Given the description of an element on the screen output the (x, y) to click on. 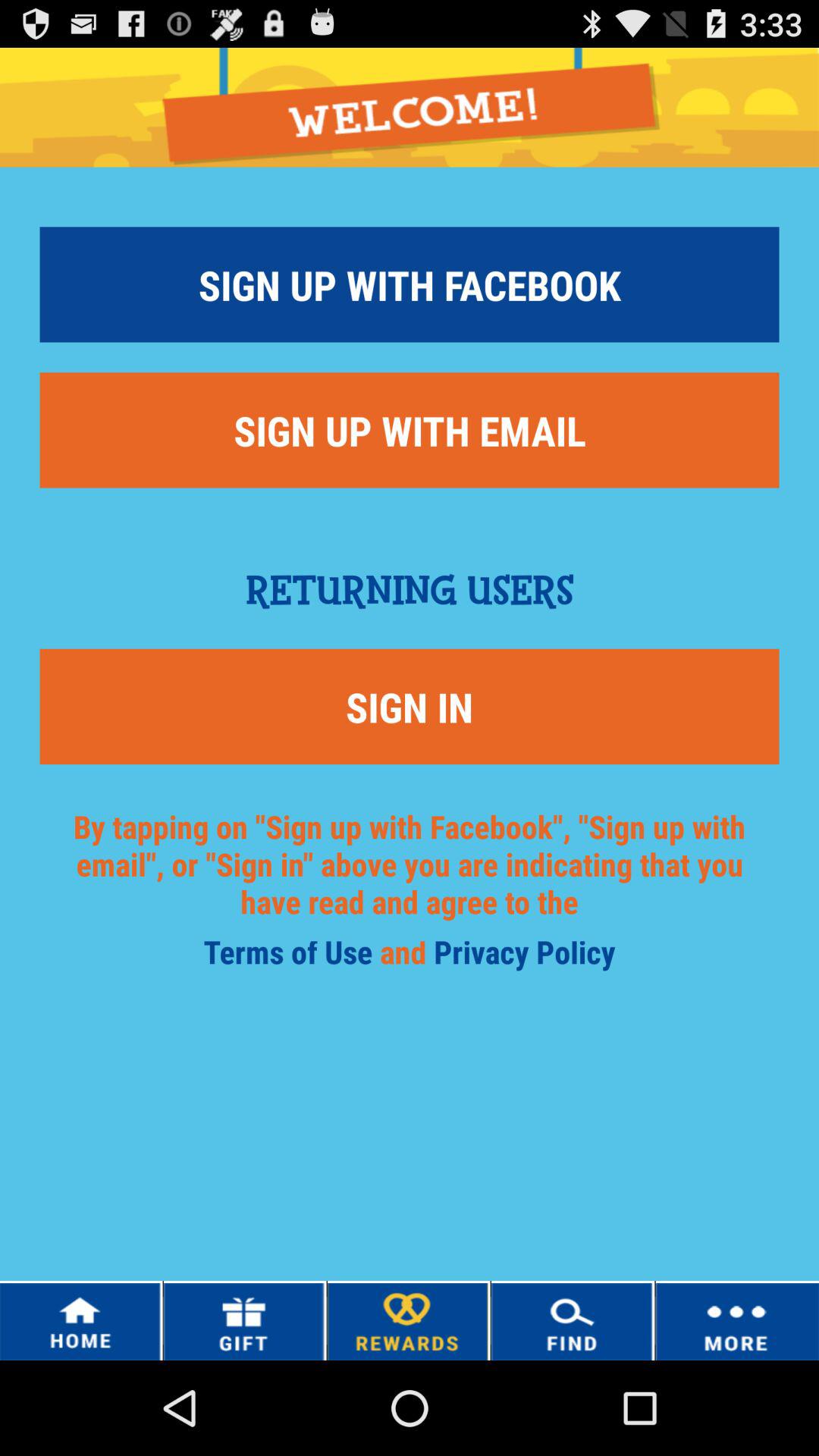
launch the icon below sign in item (409, 882)
